Given the description of an element on the screen output the (x, y) to click on. 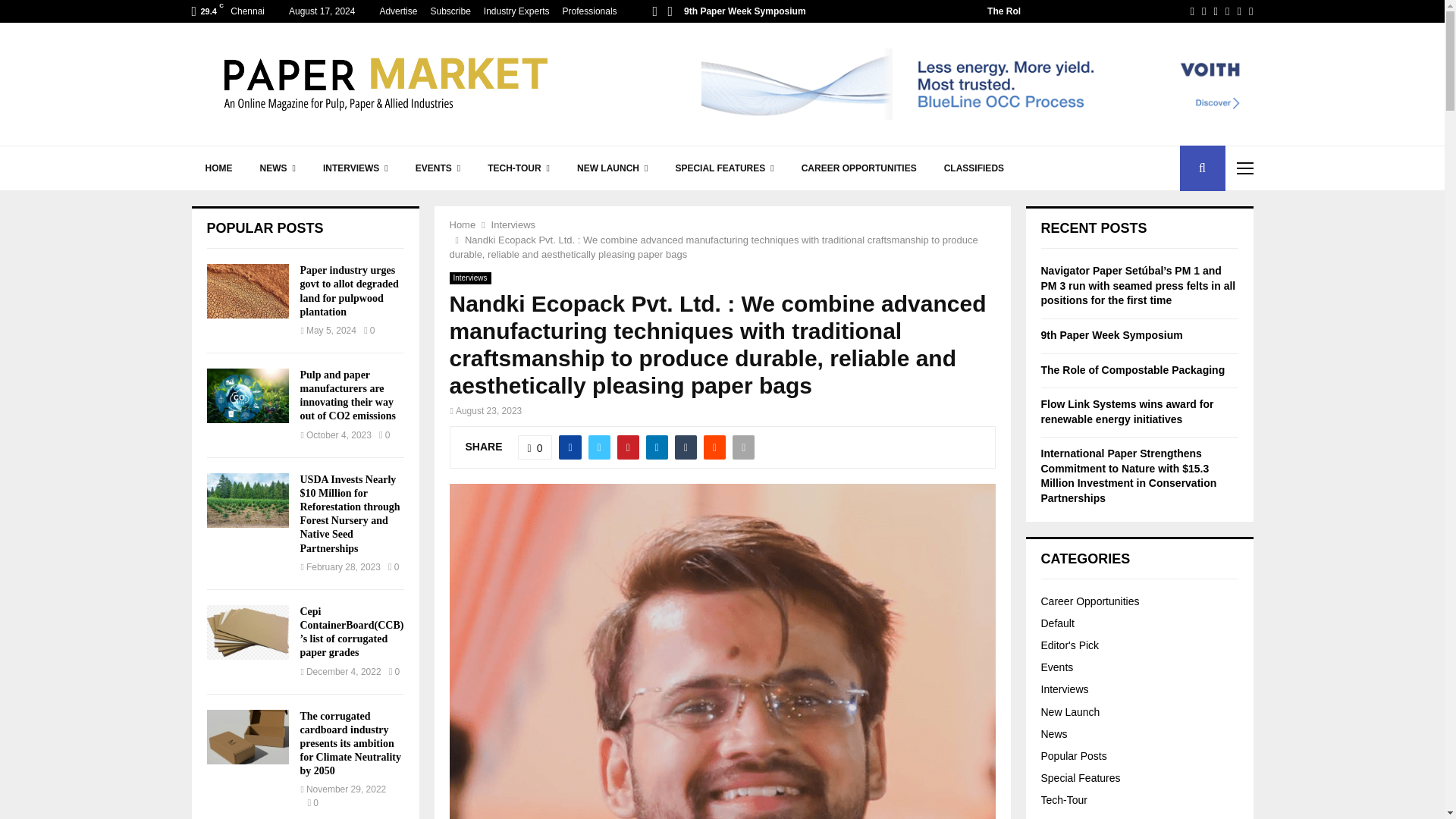
Subscribe (449, 11)
9th Paper Week Symposium (745, 10)
The Role of Compostable Packaging (1065, 10)
NEWS (277, 167)
Advertise (397, 11)
Industry Experts (516, 11)
HOME (218, 167)
Professionals (589, 11)
